Given the description of an element on the screen output the (x, y) to click on. 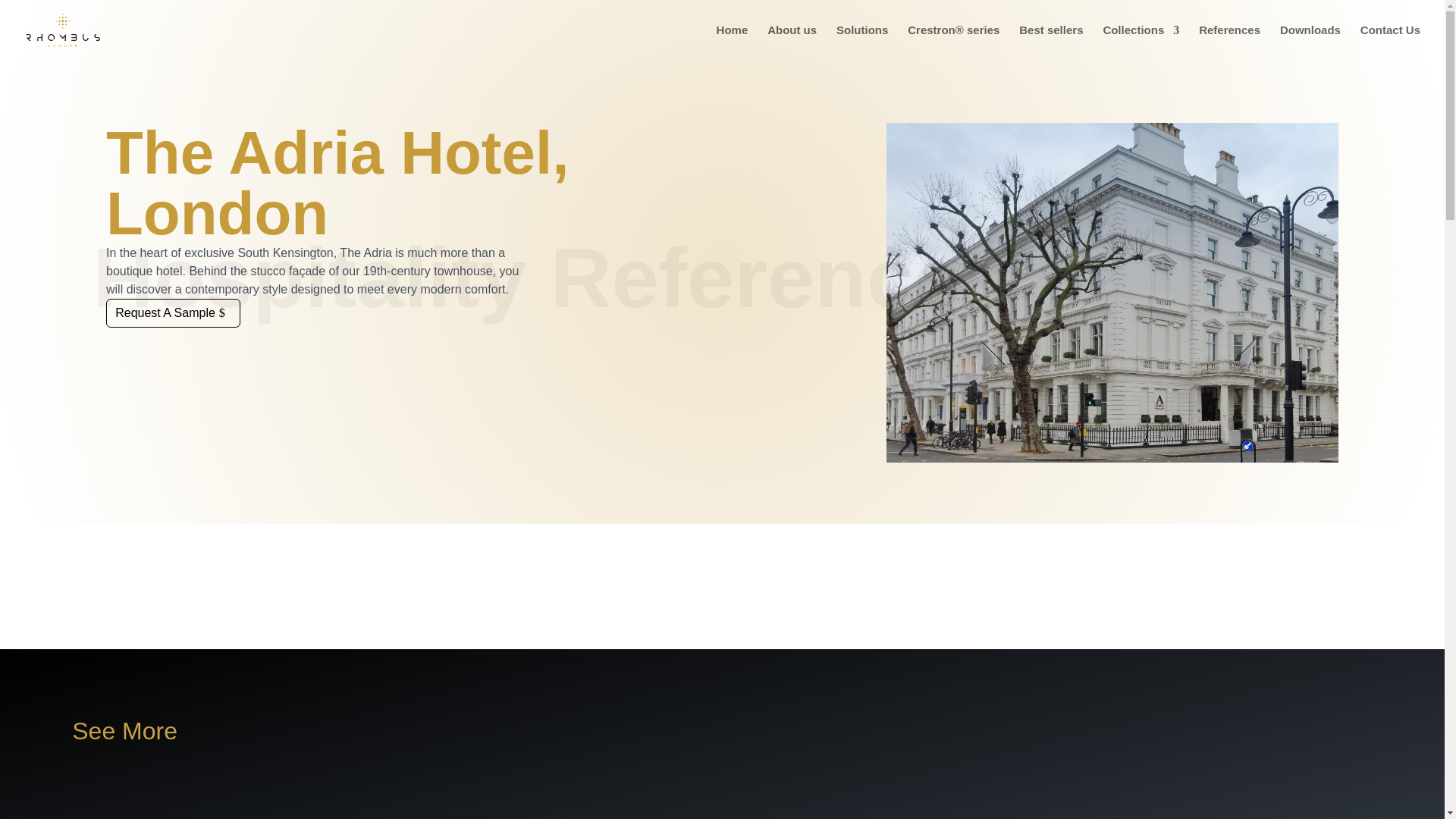
Best sellers (1051, 42)
Collections (1140, 42)
Contact Us (1390, 42)
References (1229, 42)
Downloads (1309, 42)
About us (791, 42)
Request A Sample (173, 313)
Home (732, 42)
Solutions (861, 42)
